Given the description of an element on the screen output the (x, y) to click on. 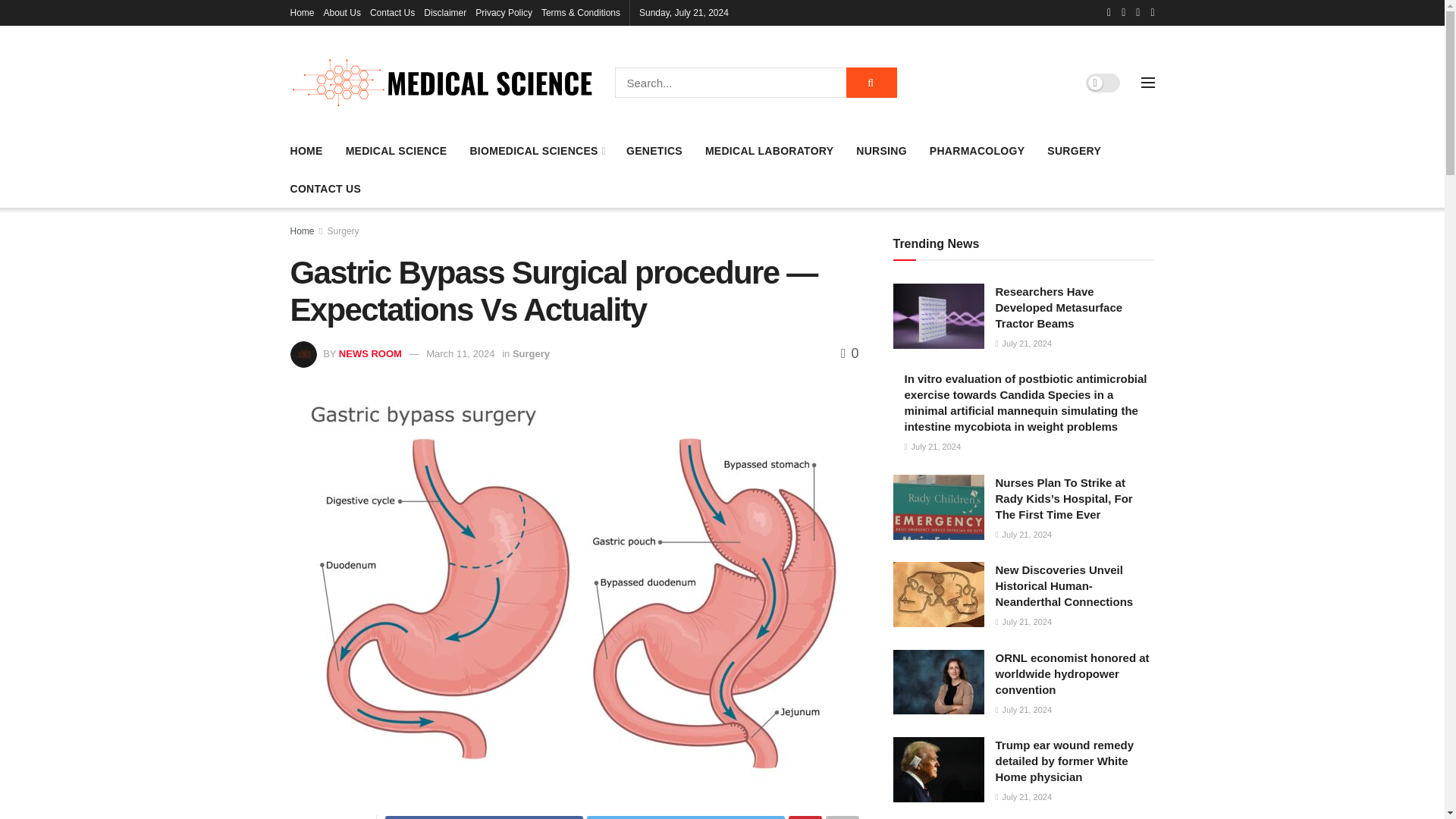
GENETICS (654, 150)
Contact Us (391, 12)
Disclaimer (444, 12)
About Us (342, 12)
BIOMEDICAL SCIENCES (536, 150)
HOME (305, 150)
PHARMACOLOGY (977, 150)
MEDICAL LABORATORY (768, 150)
MEDICAL SCIENCE (396, 150)
Home (301, 12)
NURSING (881, 150)
SURGERY (1073, 150)
Privacy Policy (504, 12)
CONTACT US (325, 188)
